Given the description of an element on the screen output the (x, y) to click on. 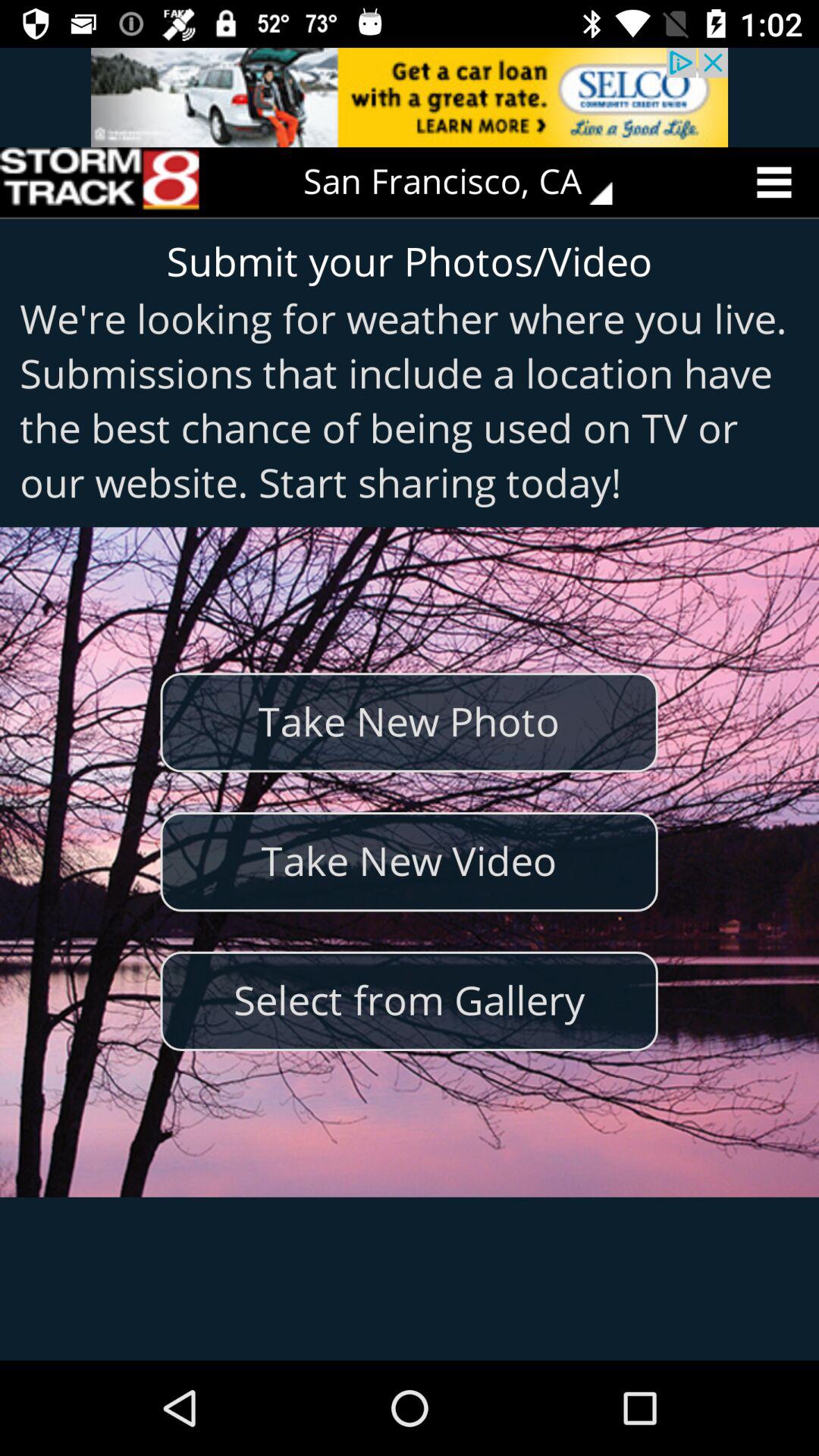
flip to select from gallery item (409, 1001)
